Given the description of an element on the screen output the (x, y) to click on. 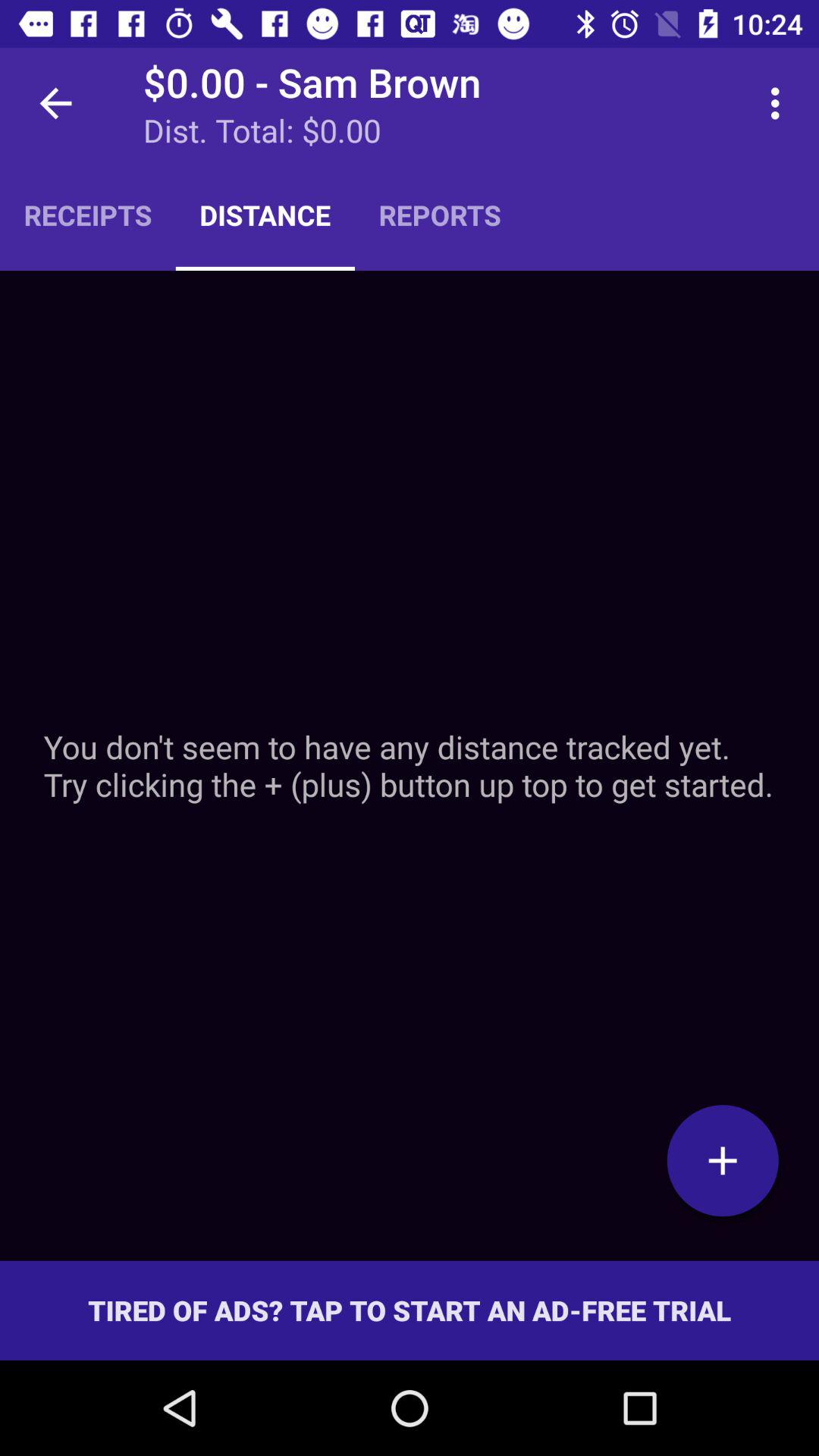
tap the icon to the right of distance item (439, 214)
